Given the description of an element on the screen output the (x, y) to click on. 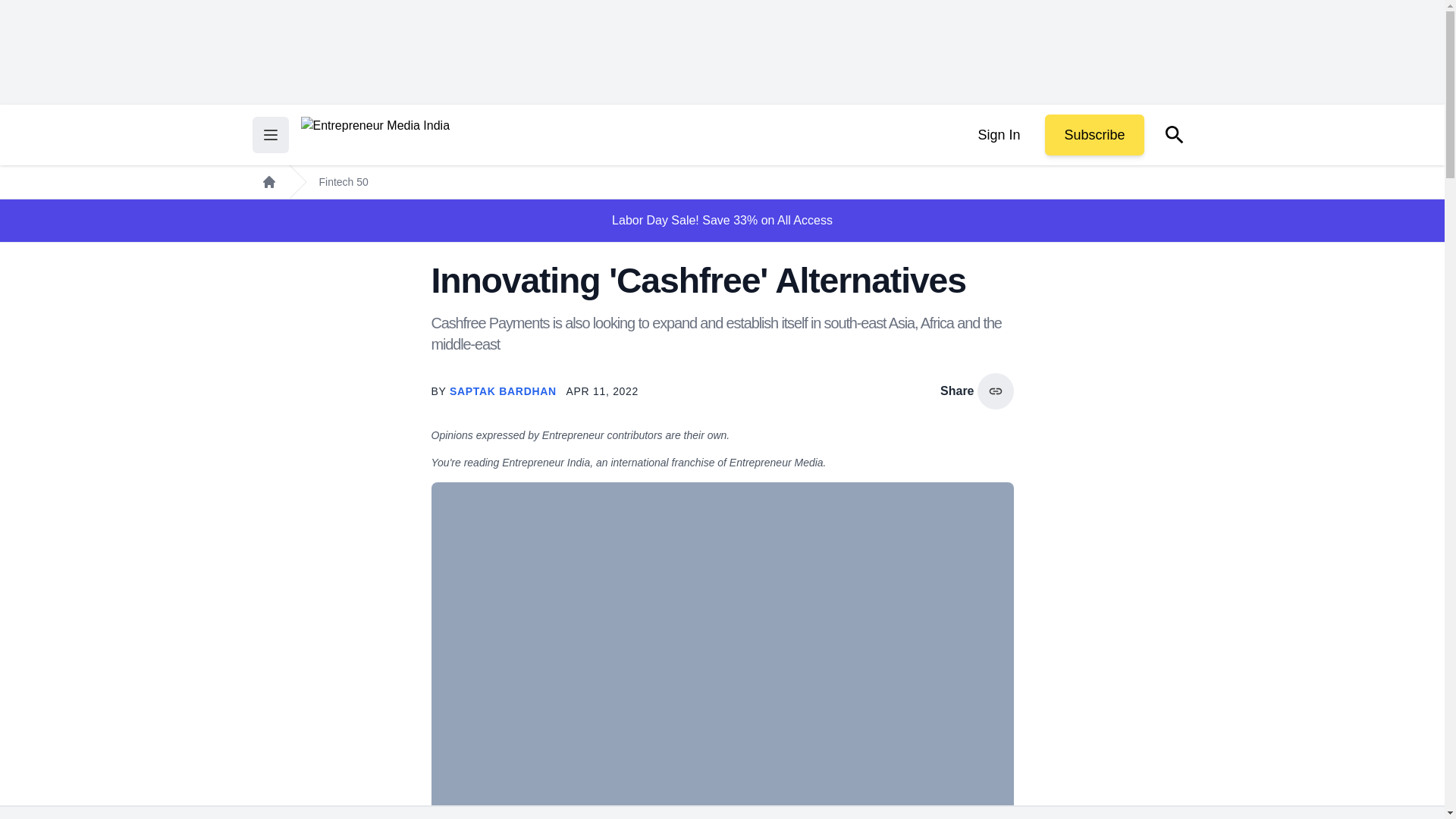
Subscribe (1093, 134)
copy (994, 391)
Sign In (998, 134)
Return to the home page (374, 135)
